Given the description of an element on the screen output the (x, y) to click on. 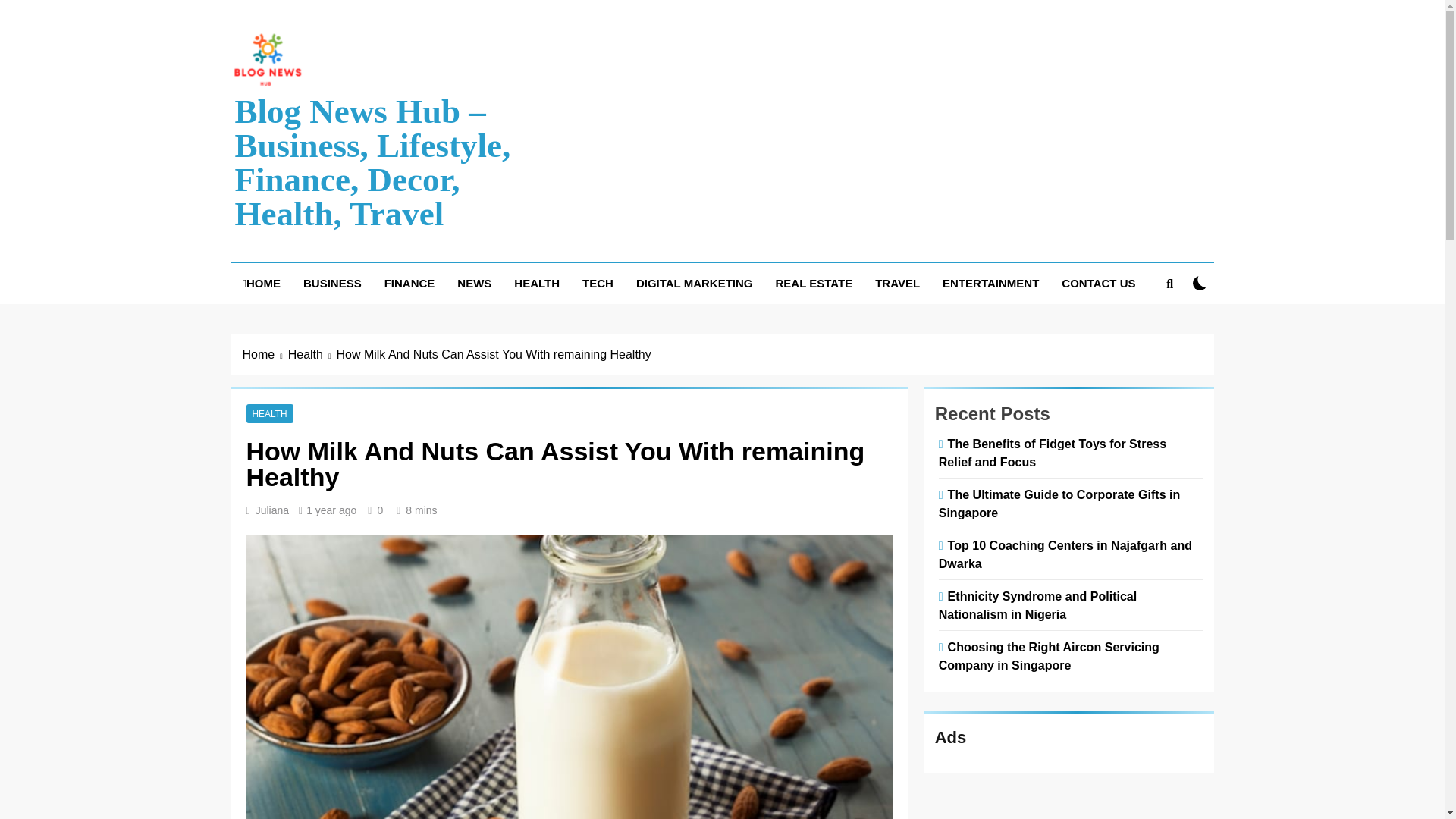
HOME (260, 282)
1 year ago (330, 510)
HEALTH (536, 282)
The Benefits of Fidget Toys for Stress Relief and Focus (1052, 452)
Juliana (272, 510)
CONTACT US (1098, 282)
Health (312, 354)
NEWS (473, 282)
DIGITAL MARKETING (694, 282)
HEALTH (268, 412)
